Given the description of an element on the screen output the (x, y) to click on. 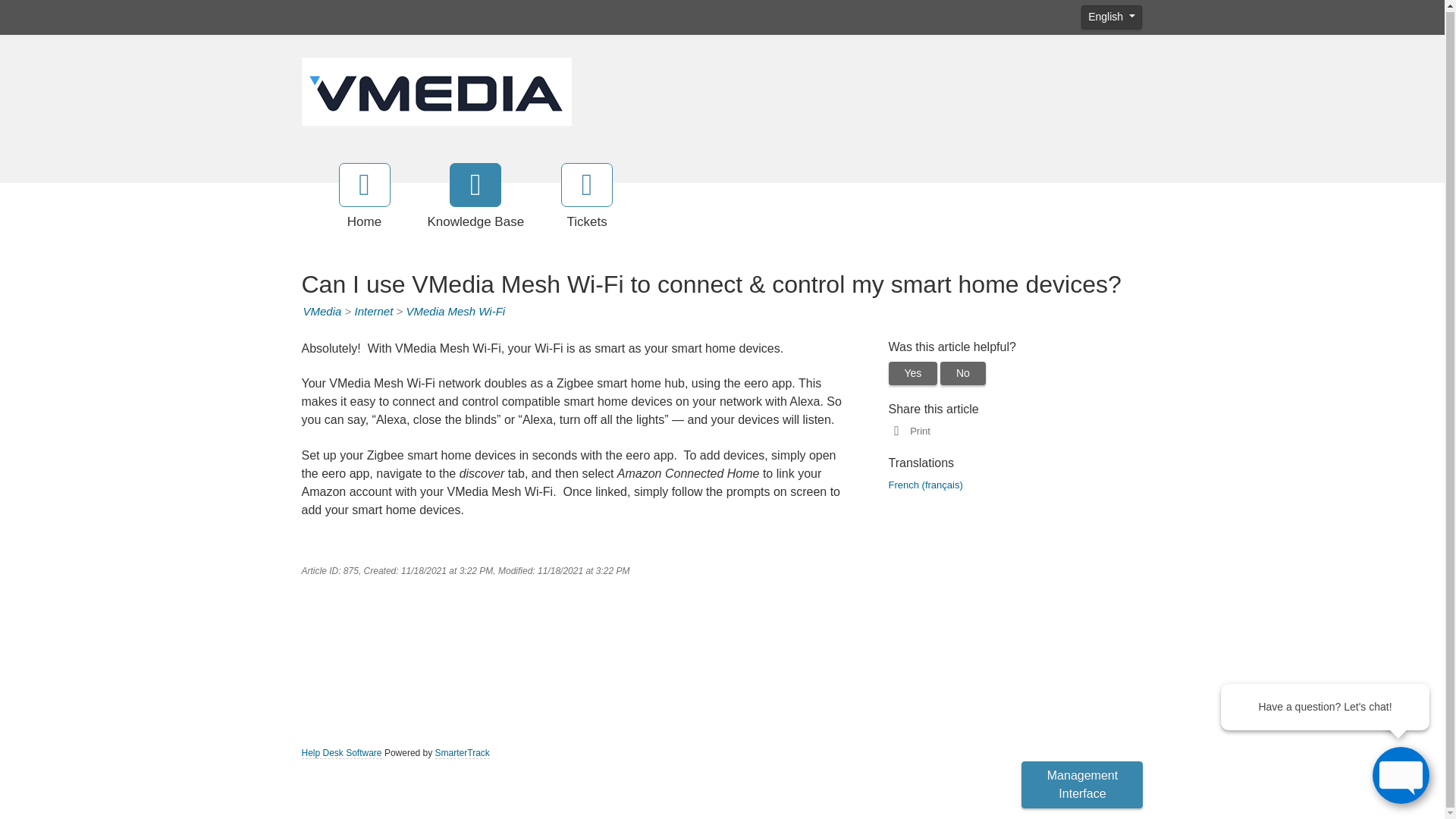
VMedia Mesh Wi-Fi (455, 310)
Knowledge Base (476, 196)
English (1111, 16)
VMedia (322, 310)
Home (364, 196)
Tickets (586, 196)
No (962, 372)
Internet (373, 310)
VMEDIA (436, 89)
Yes (912, 372)
Chat with us! (1401, 773)
